Given the description of an element on the screen output the (x, y) to click on. 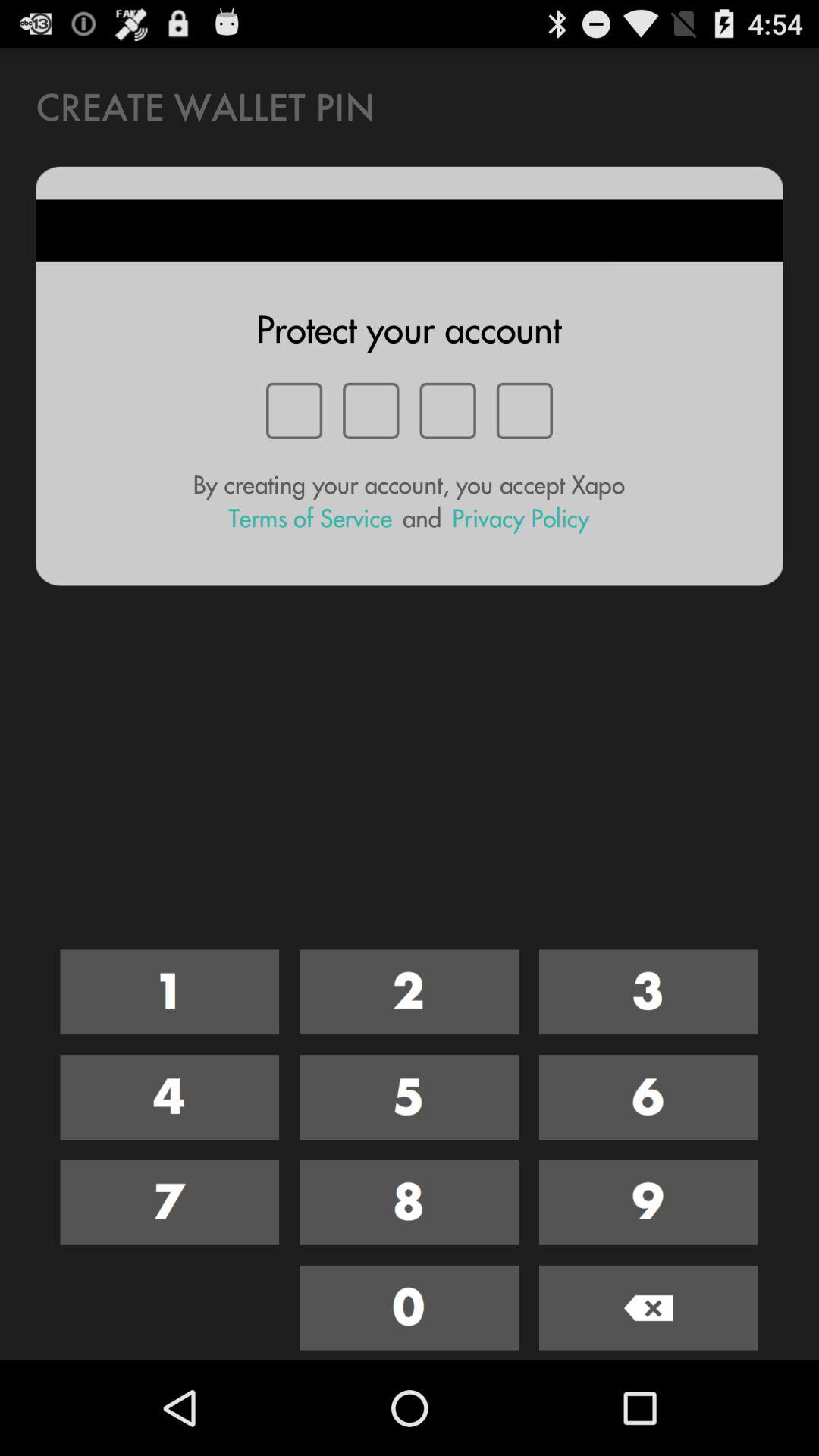
click number eight (408, 1202)
